Given the description of an element on the screen output the (x, y) to click on. 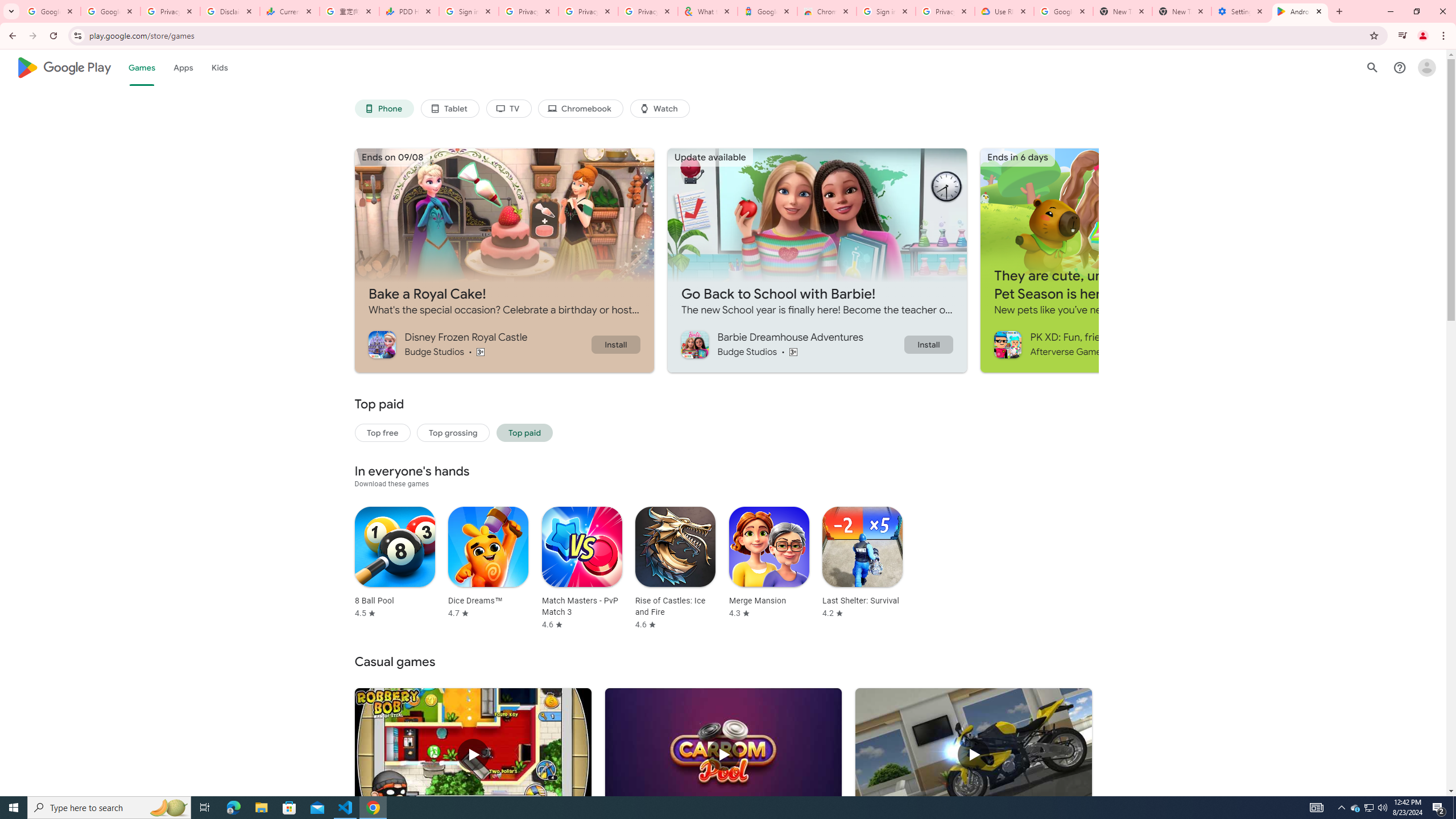
Sign in - Google Accounts (885, 11)
Chrome Web Store - Color themes by Chrome (826, 11)
Games (141, 67)
Phone (383, 108)
Apps (182, 67)
Play Carrom Pool: Disc Game (722, 754)
Google (767, 11)
